Given the description of an element on the screen output the (x, y) to click on. 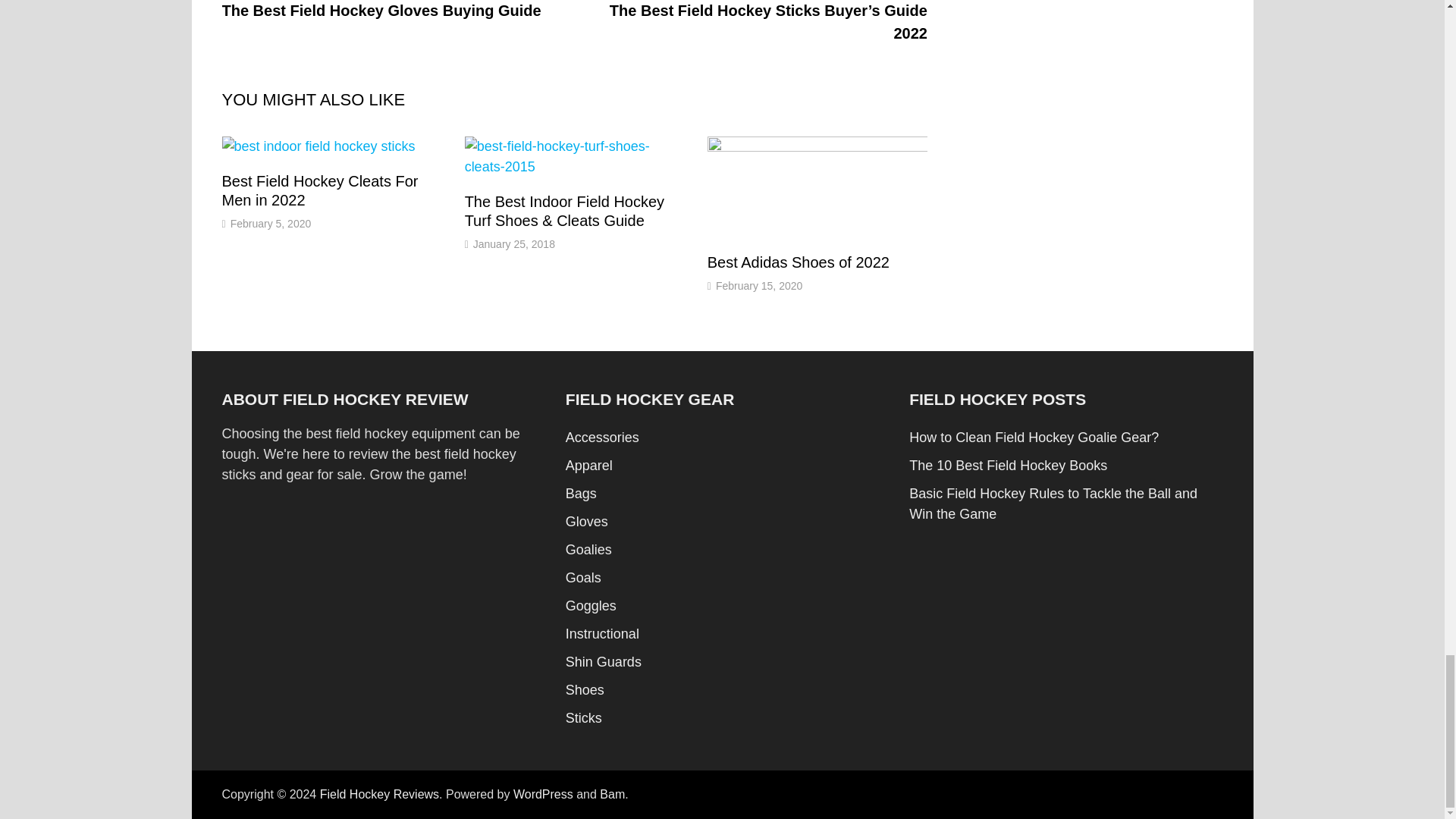
Best Adidas Shoes of 2022 (798, 262)
Field Hockey Reviews (379, 793)
Best Field Hockey Cleats For Men in 2022 (319, 190)
